Given the description of an element on the screen output the (x, y) to click on. 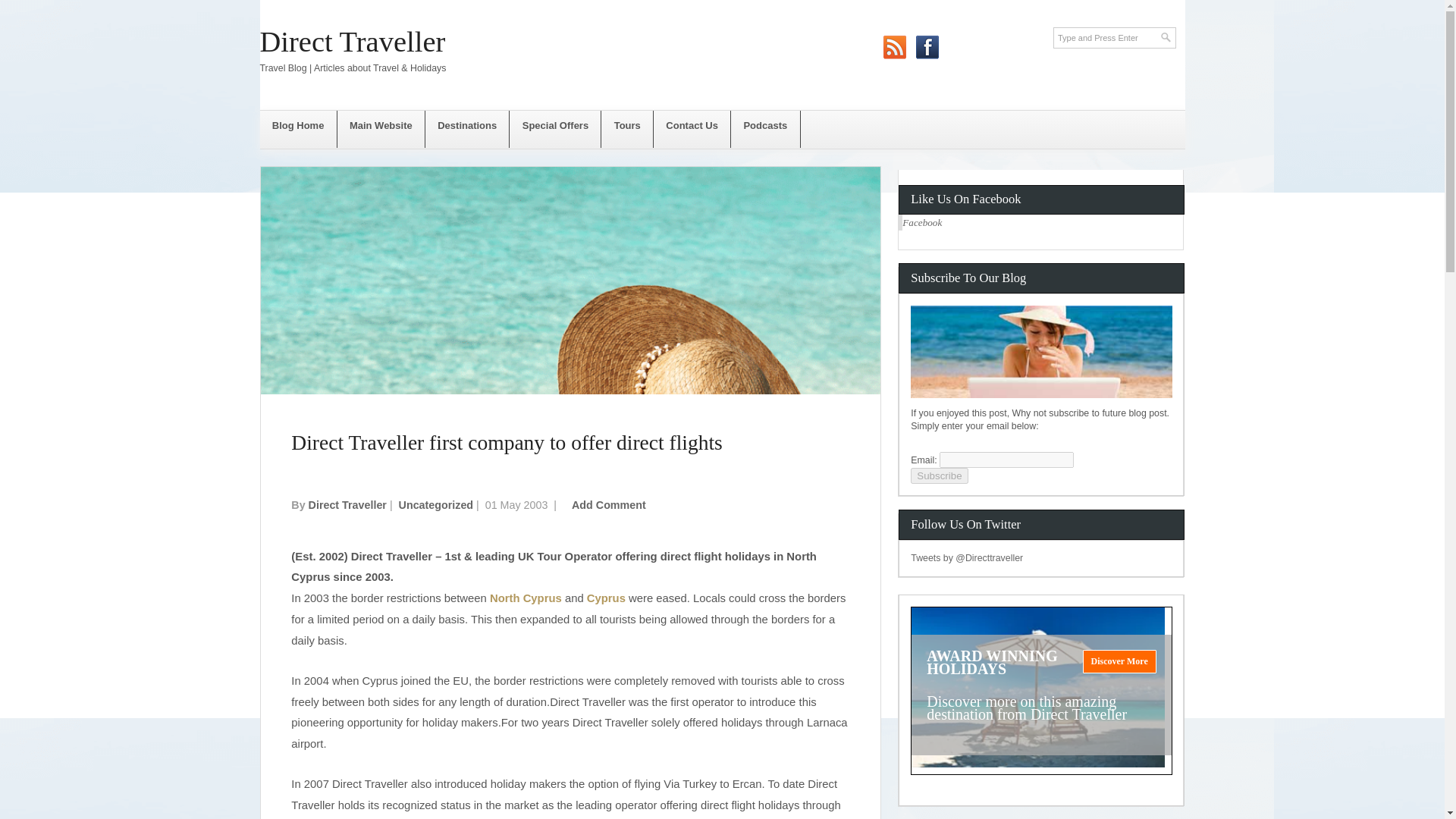
Uncategorized (436, 504)
Tours (627, 129)
Blog Home (297, 129)
Main Website (381, 129)
Check out our Linkedin profile (992, 37)
North Cyprus (525, 598)
Direct Traveller (352, 41)
